Given the description of an element on the screen output the (x, y) to click on. 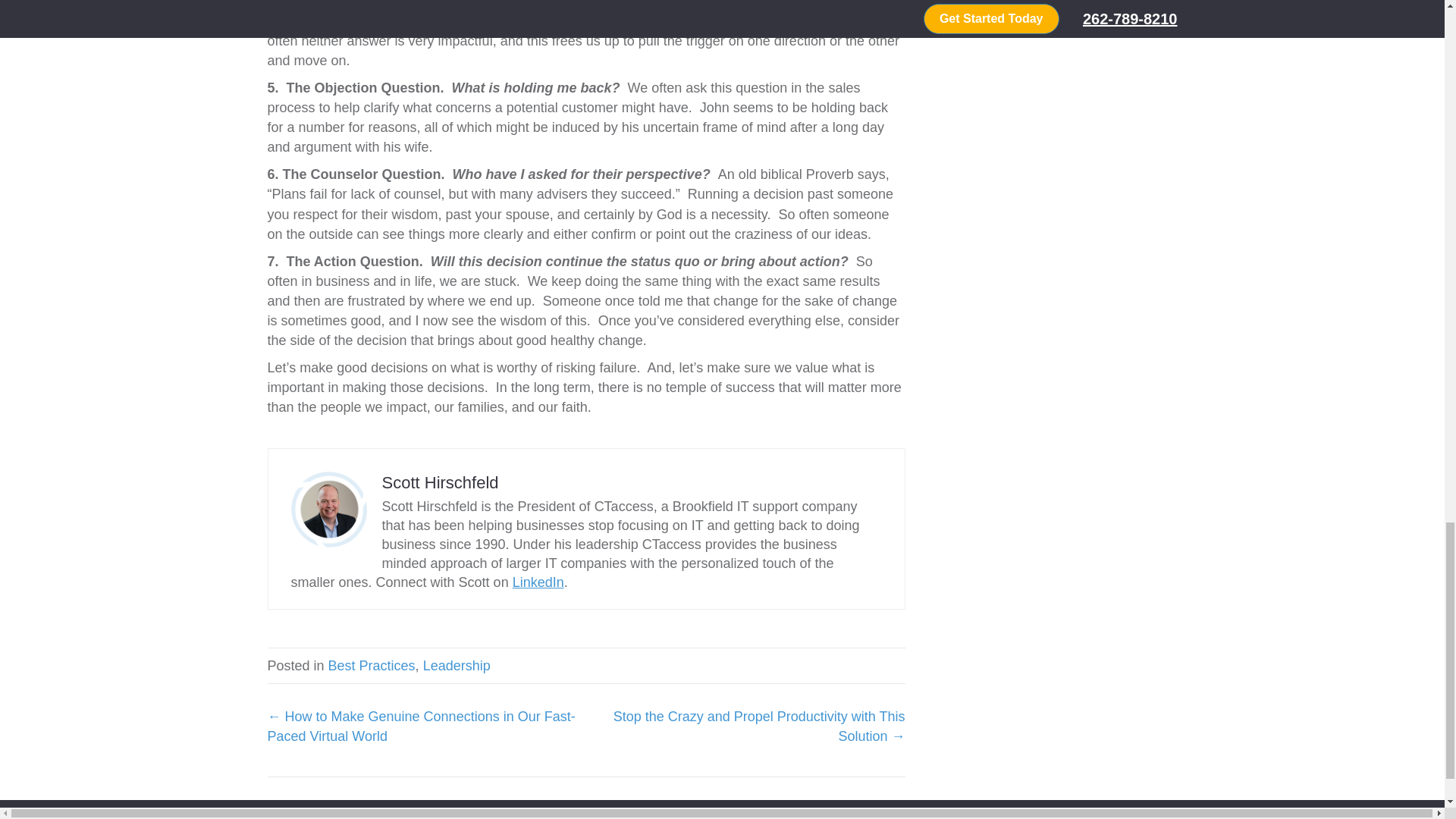
Best Practices (371, 664)
LinkedIn (538, 581)
Scott Hirschfeld (440, 481)
Leadership (456, 664)
